Given the description of an element on the screen output the (x, y) to click on. 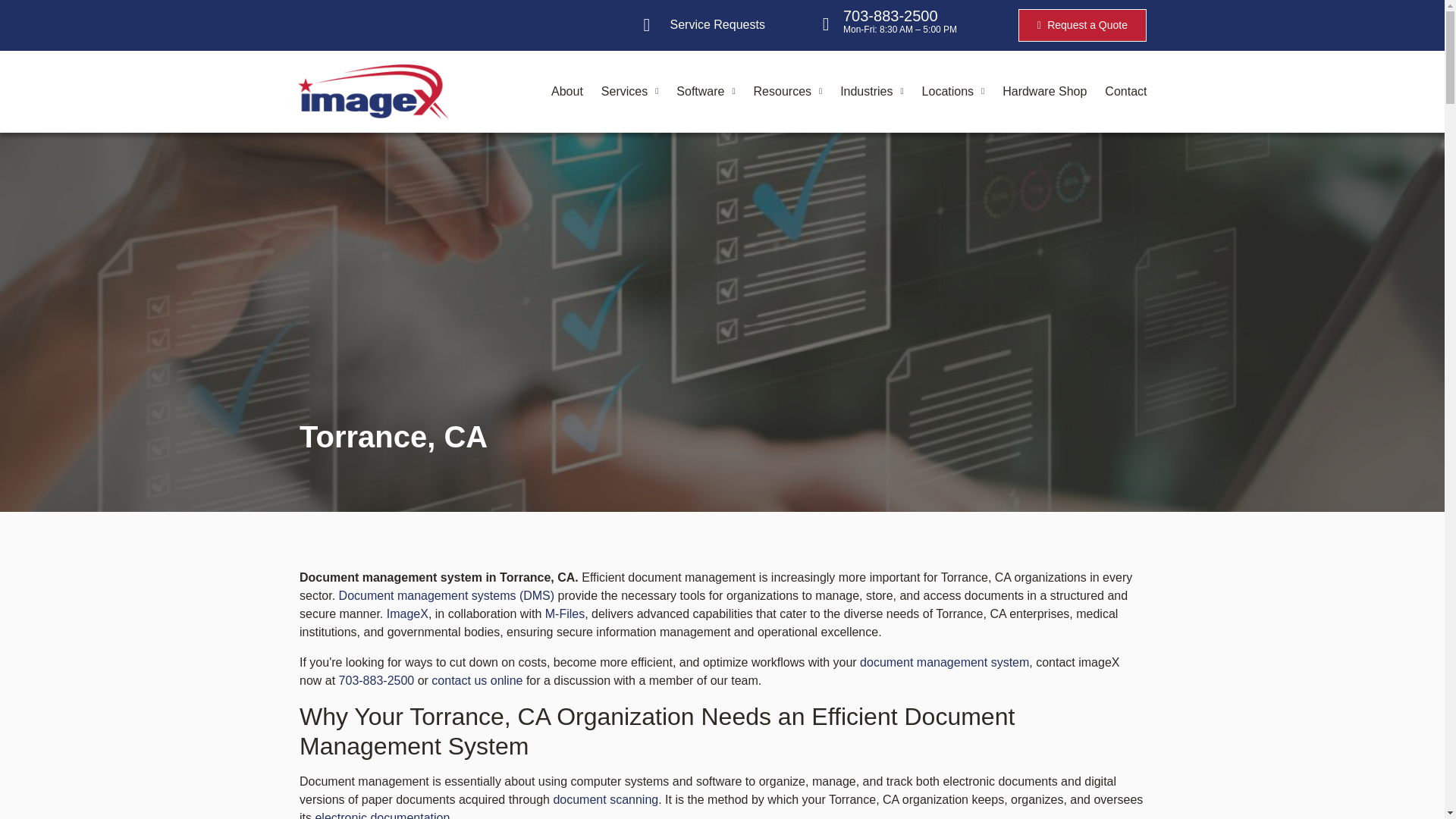
Services (629, 91)
Software (706, 91)
Request a Quote (1082, 25)
Resources (788, 91)
703-883-2500 (890, 15)
About (567, 91)
Industries (871, 91)
Hardware Shop (1044, 91)
Service Requests (703, 24)
Locations (953, 91)
Contact (1126, 91)
